Given the description of an element on the screen output the (x, y) to click on. 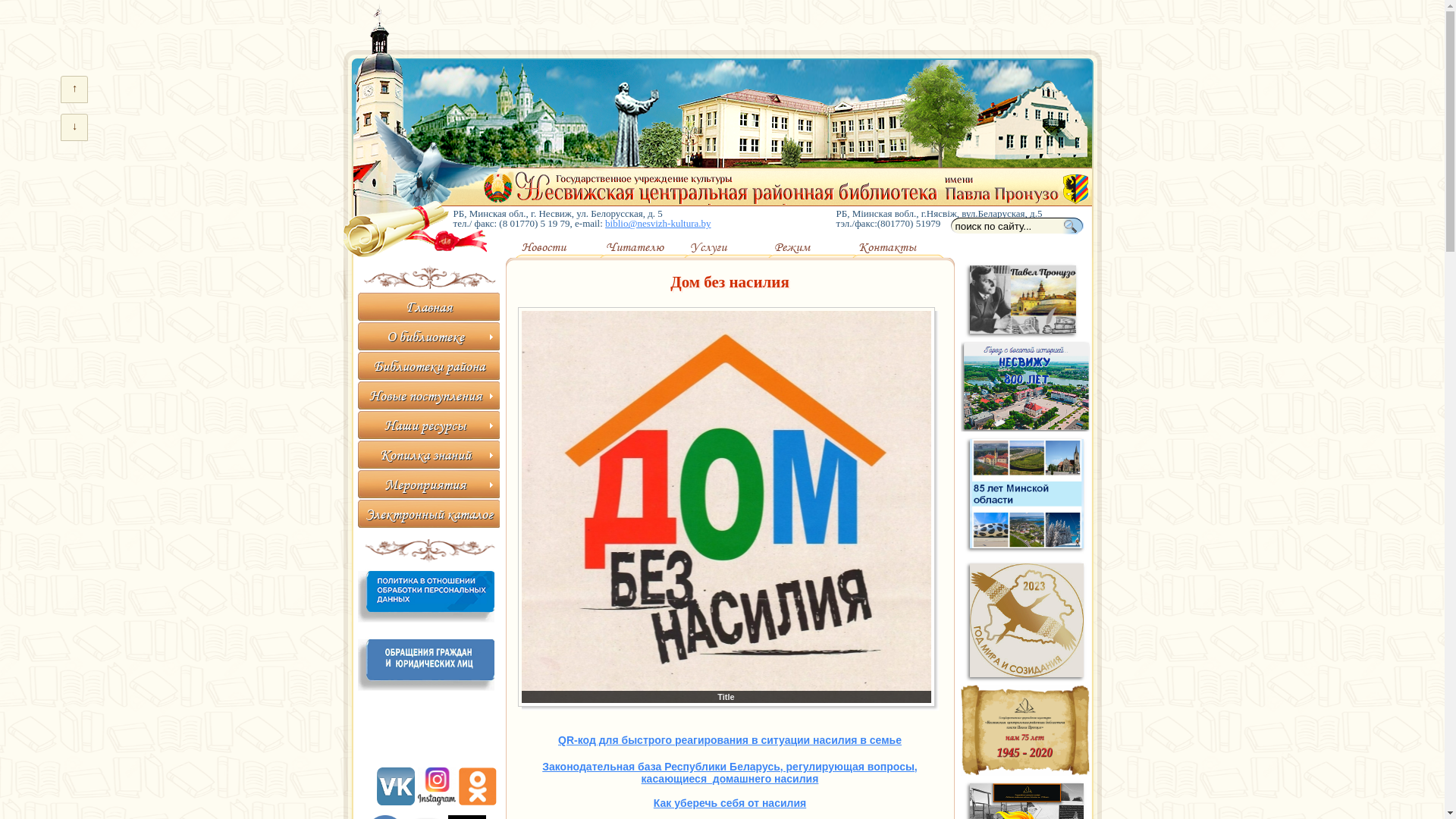
Title Element type: text (726, 506)
biblio@nesvizh-kultura.by Element type: text (657, 223)
           Element type: text (1076, 225)
Click to enlarge image 1.jpg Element type: hover (726, 506)
